Given the description of an element on the screen output the (x, y) to click on. 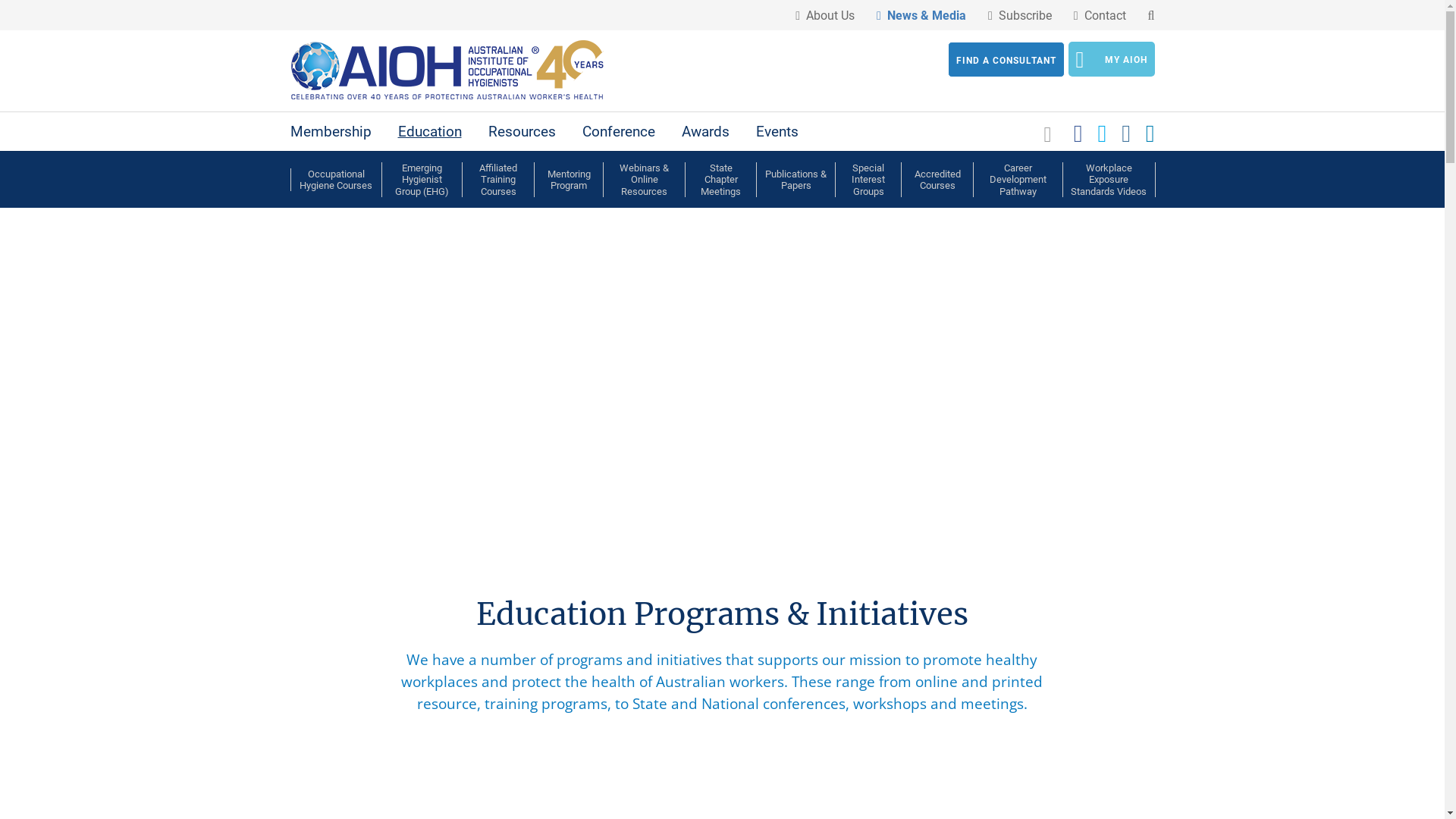
Resources Element type: text (521, 131)
JOIN THE AIOH Element type: text (349, 493)
  About Us Element type: text (824, 15)
State Chapter Meetings Element type: text (720, 179)
Affiliated Training Courses Element type: text (498, 179)
MY AIOH Element type: text (1110, 58)
Awards Element type: text (704, 131)
View your shopping cart Element type: hover (1049, 132)
Emerging Hygienist Group (EHG) Element type: text (421, 179)
Accredited Courses Element type: text (937, 179)
FIND A CONSULTANT Element type: text (1005, 59)
MEMBERS LOGIN Element type: text (481, 493)
Education Element type: text (429, 131)
Conference Element type: text (618, 131)
Workplace Exposure Standards Videos Element type: text (1108, 179)
  News & Media Element type: text (921, 15)
Publications & Papers Element type: text (795, 179)
Membership Element type: text (329, 131)
Mentoring Program Element type: text (568, 179)
Events Element type: text (776, 131)
Special Interest Groups Element type: text (867, 179)
Career Development Pathway Element type: text (1017, 179)
  Contact Element type: text (1099, 15)
Occupational Hygiene Courses Element type: text (335, 179)
  Subscribe Element type: text (1019, 15)
Webinars & Online Resources Element type: text (643, 179)
